Given the description of an element on the screen output the (x, y) to click on. 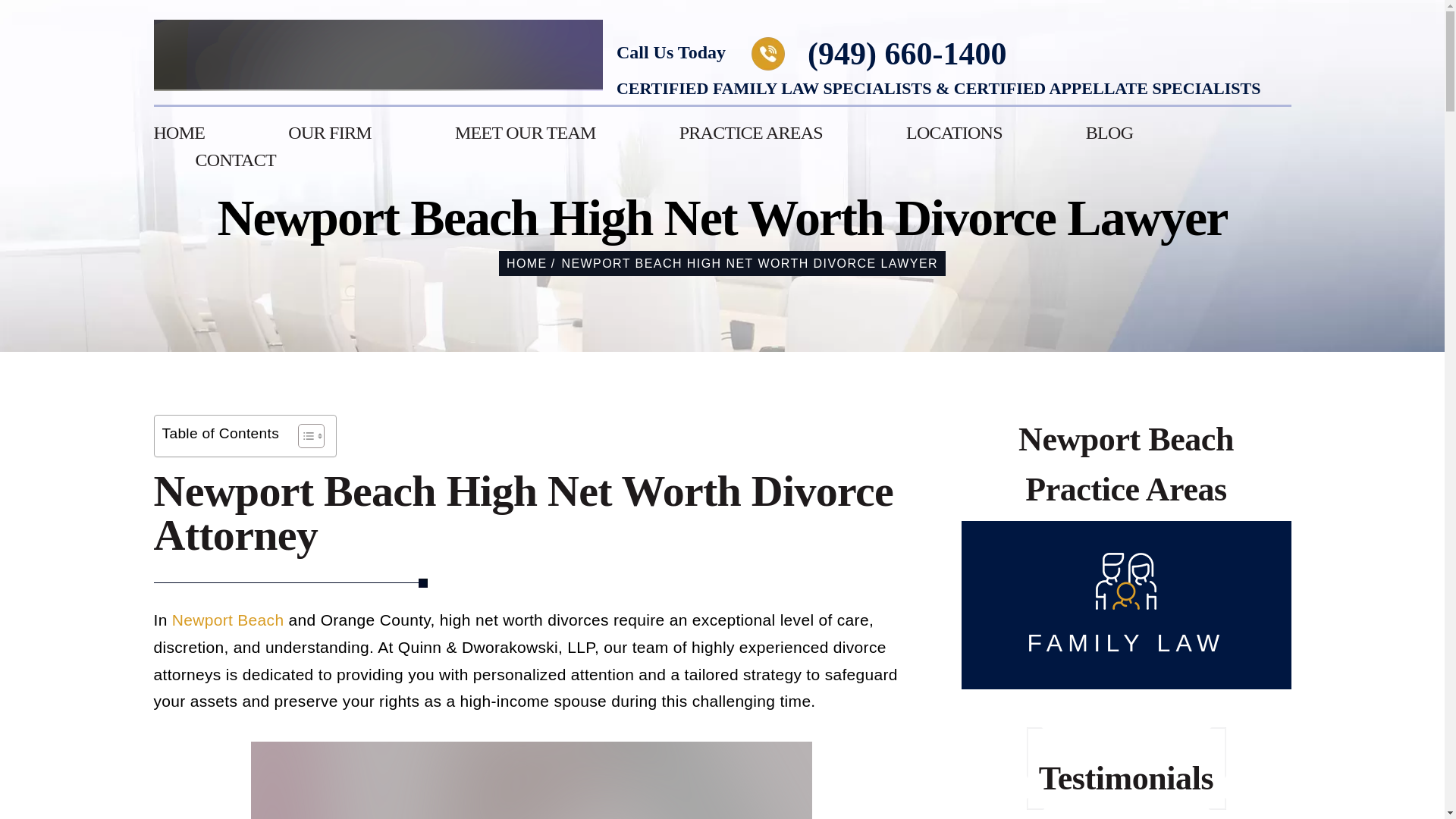
OUR FIRM (329, 132)
CERTIFIED APPELLATE SPECIALISTS (1106, 87)
PRACTICE AREAS (750, 132)
MEET OUR TEAM (524, 132)
HOME (178, 132)
